Given the description of an element on the screen output the (x, y) to click on. 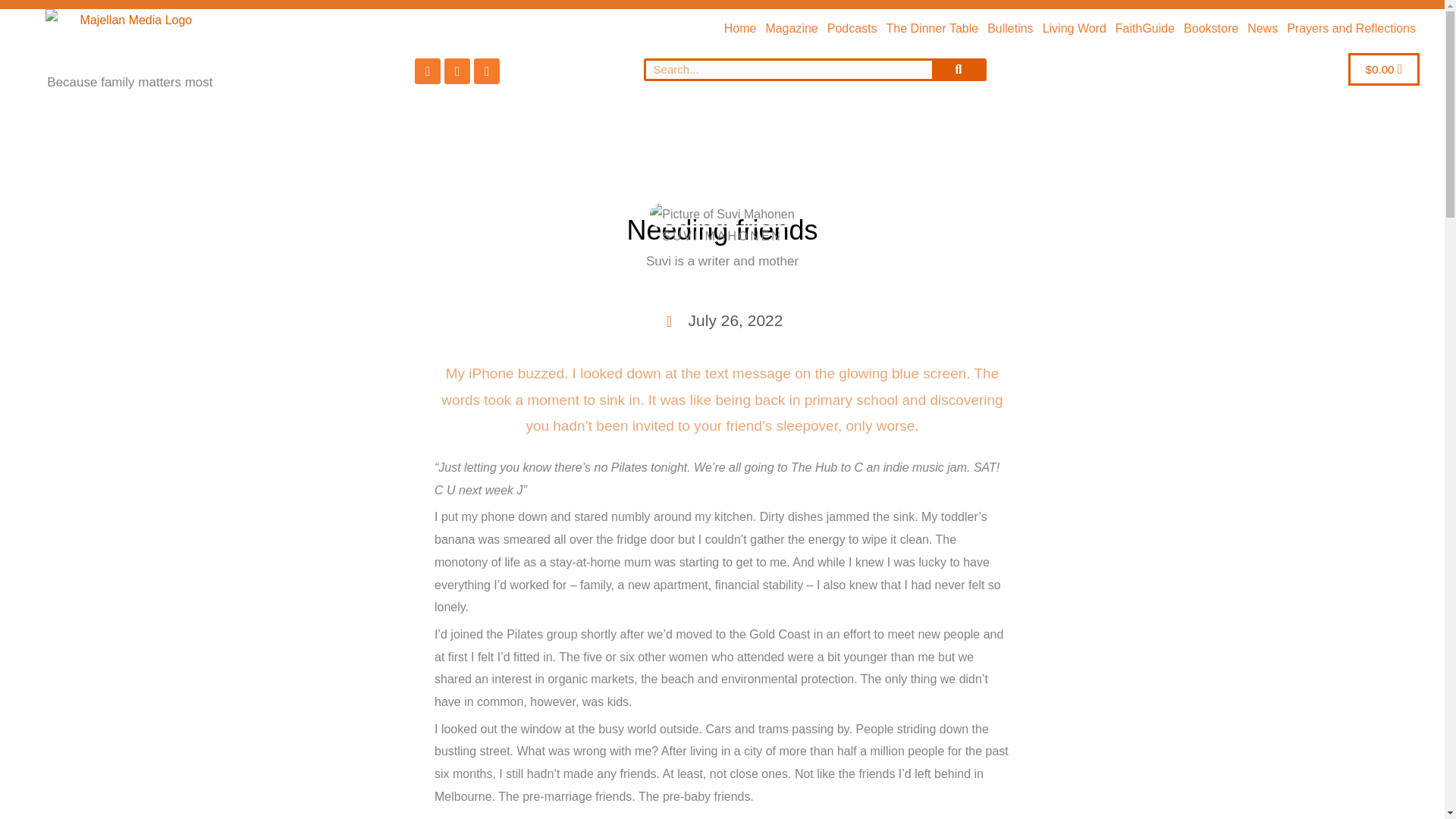
The Dinner Table (932, 28)
FaithGuide (1144, 28)
Podcasts (852, 28)
News (1262, 28)
Living Word (1074, 28)
Bookstore (1211, 28)
Bulletins (1009, 28)
Home (740, 28)
Magazine (790, 28)
Prayers and Reflections (1351, 28)
